Given the description of an element on the screen output the (x, y) to click on. 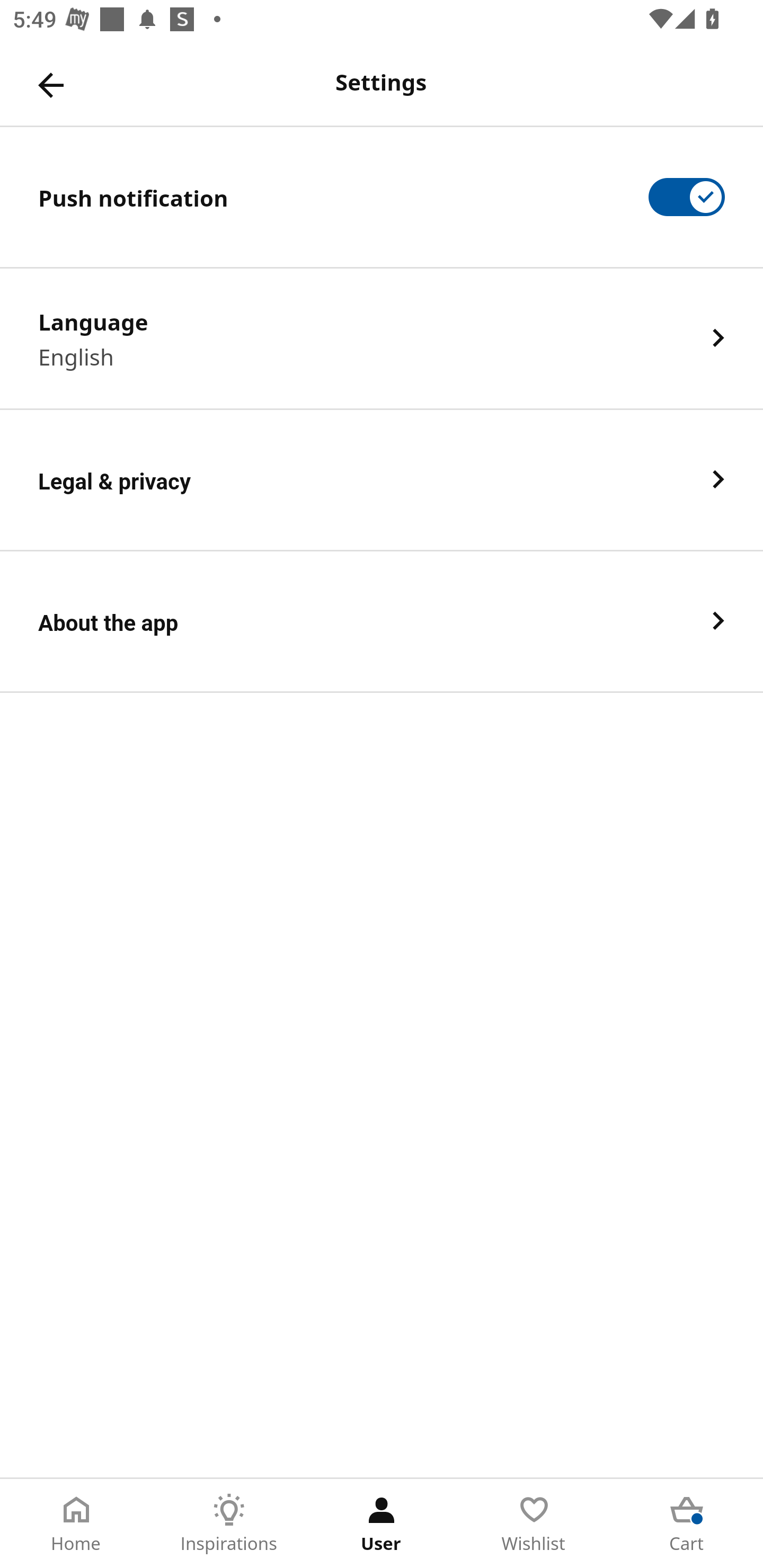
Push notification (381, 196)
Language
English (381, 338)
Legal & privacy (381, 480)
About the app (381, 622)
Home
Tab 1 of 5 (76, 1522)
Inspirations
Tab 2 of 5 (228, 1522)
User
Tab 3 of 5 (381, 1522)
Wishlist
Tab 4 of 5 (533, 1522)
Cart
Tab 5 of 5 (686, 1522)
